Given the description of an element on the screen output the (x, y) to click on. 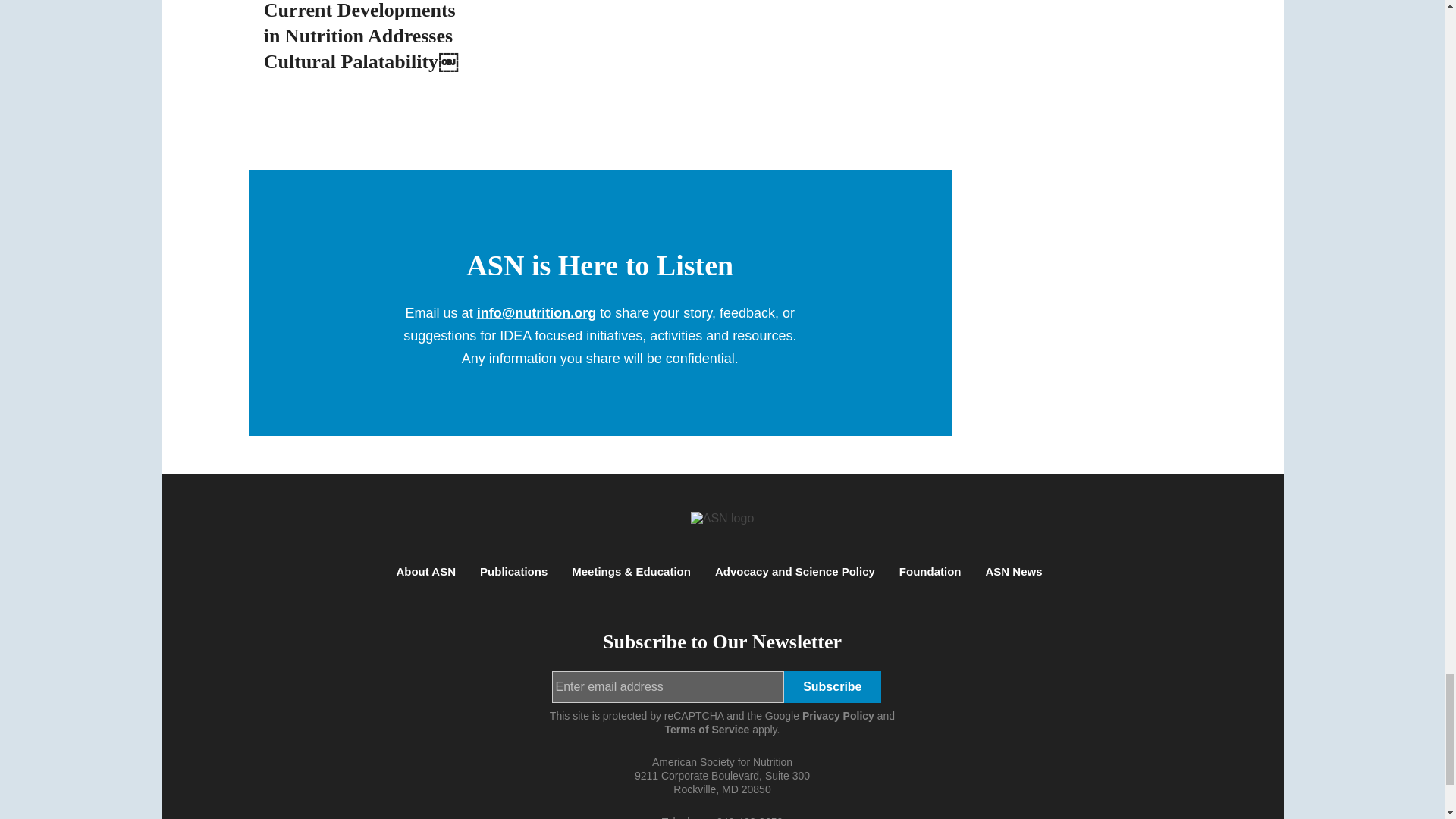
Subscribe (832, 686)
Read Article (365, 42)
